Given the description of an element on the screen output the (x, y) to click on. 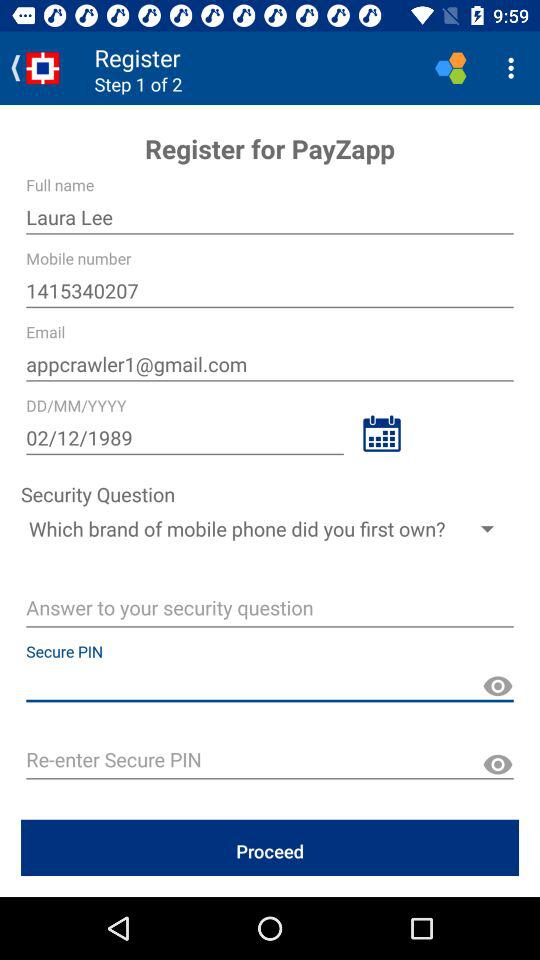
go to calendar to select date (381, 433)
